Given the description of an element on the screen output the (x, y) to click on. 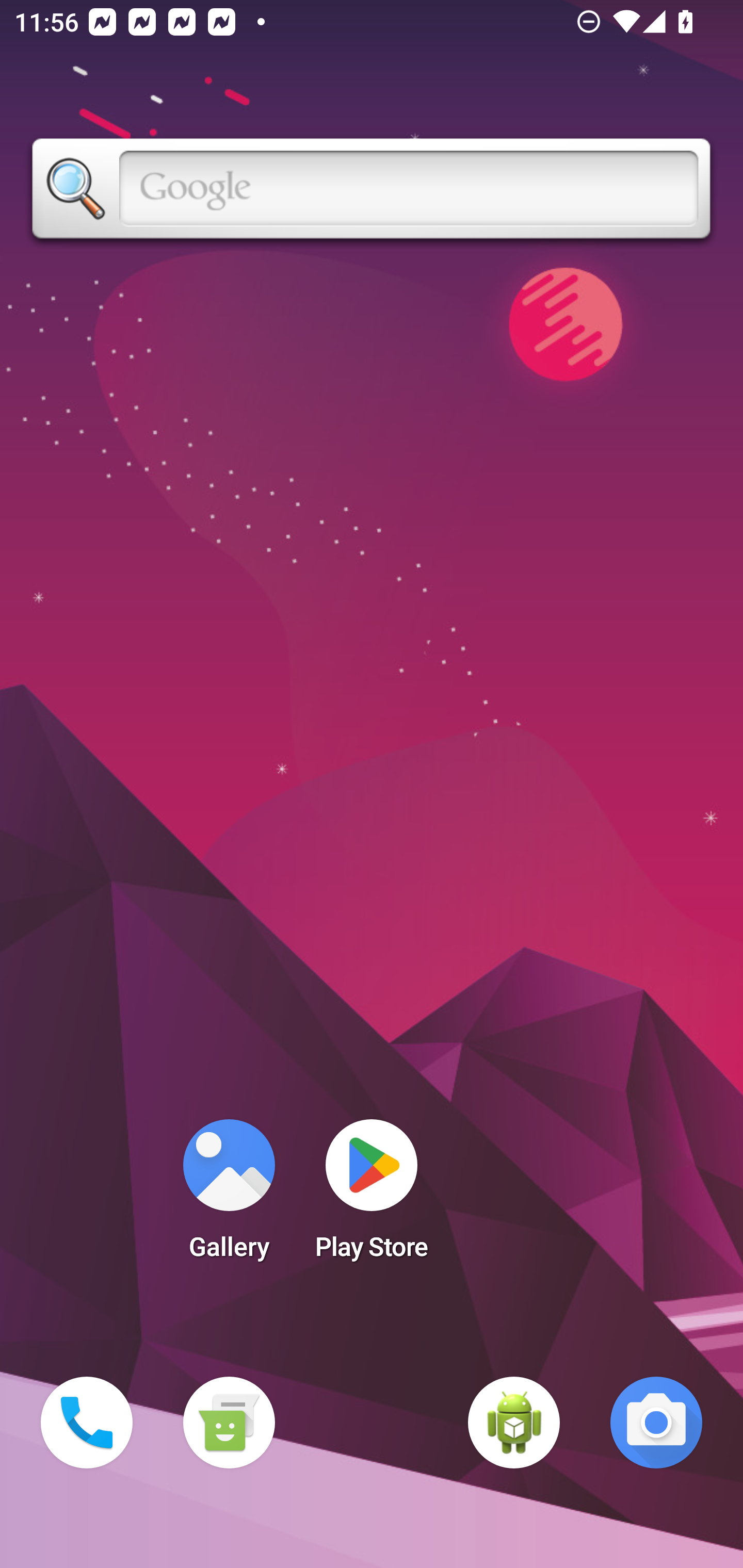
Gallery (228, 1195)
Play Store (371, 1195)
Phone (86, 1422)
Messaging (228, 1422)
WebView Browser Tester (513, 1422)
Camera (656, 1422)
